Given the description of an element on the screen output the (x, y) to click on. 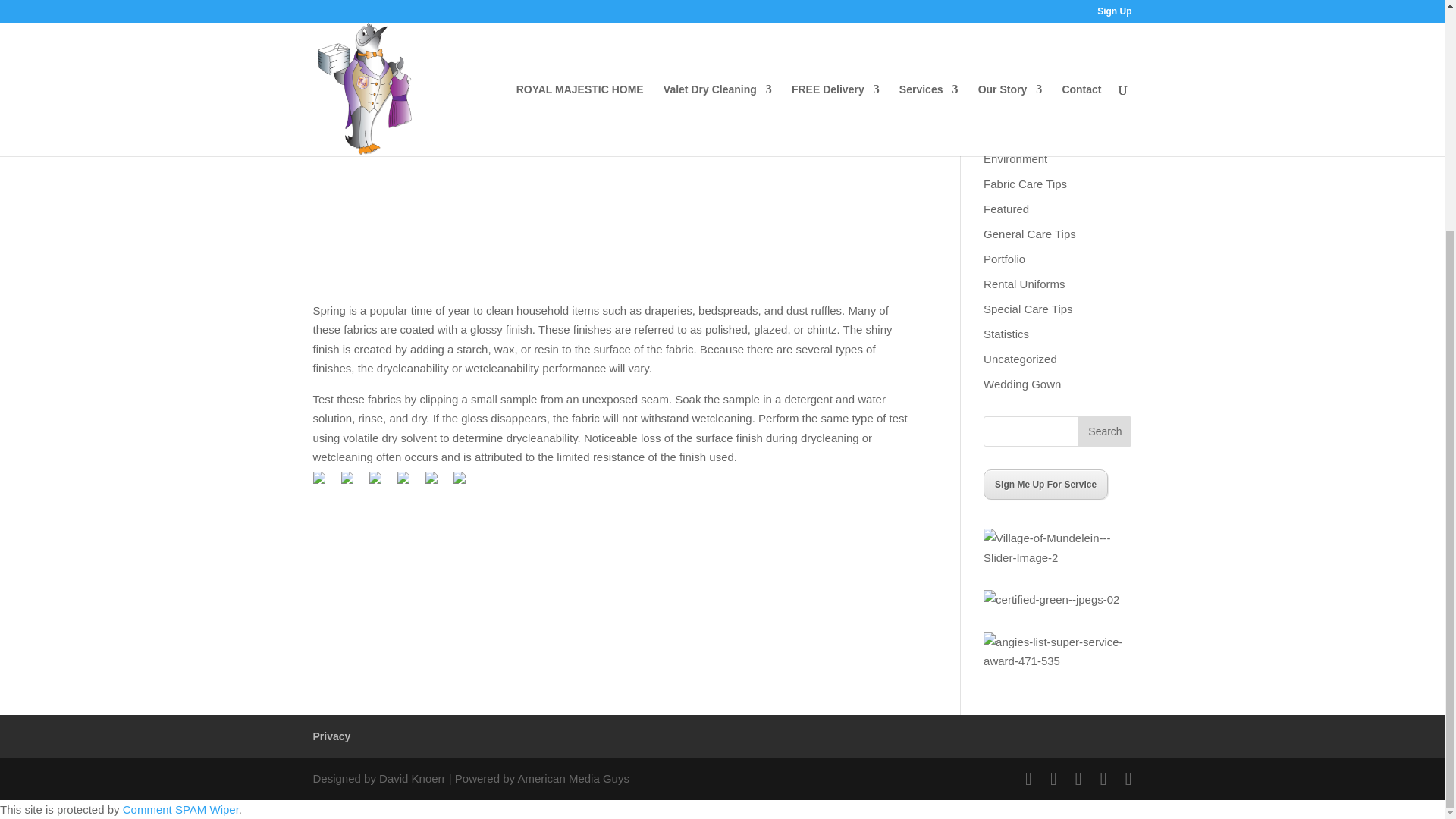
Share by email (464, 483)
Search (1104, 431)
Share on Reddit (380, 483)
Share on Twitter (352, 483)
Share on Facebook (324, 483)
Pin it with Pinterest (409, 483)
Share on Linkedin (436, 483)
